Given the description of an element on the screen output the (x, y) to click on. 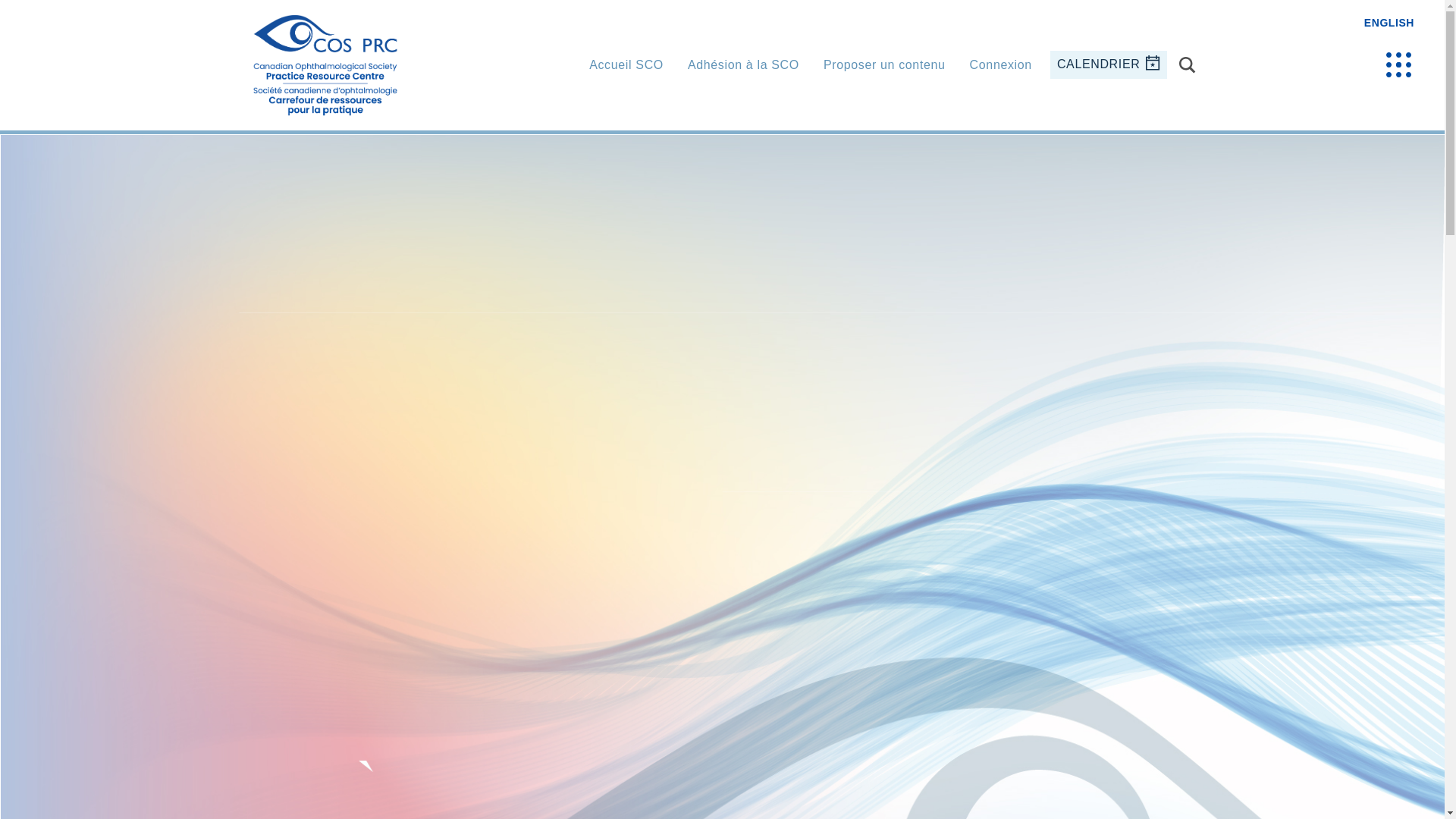
Proposer un contenu (884, 64)
Accueil SCO (625, 64)
CALENDRIER (1108, 64)
Connexion (1000, 64)
ENGLISH (1388, 22)
